Given the description of an element on the screen output the (x, y) to click on. 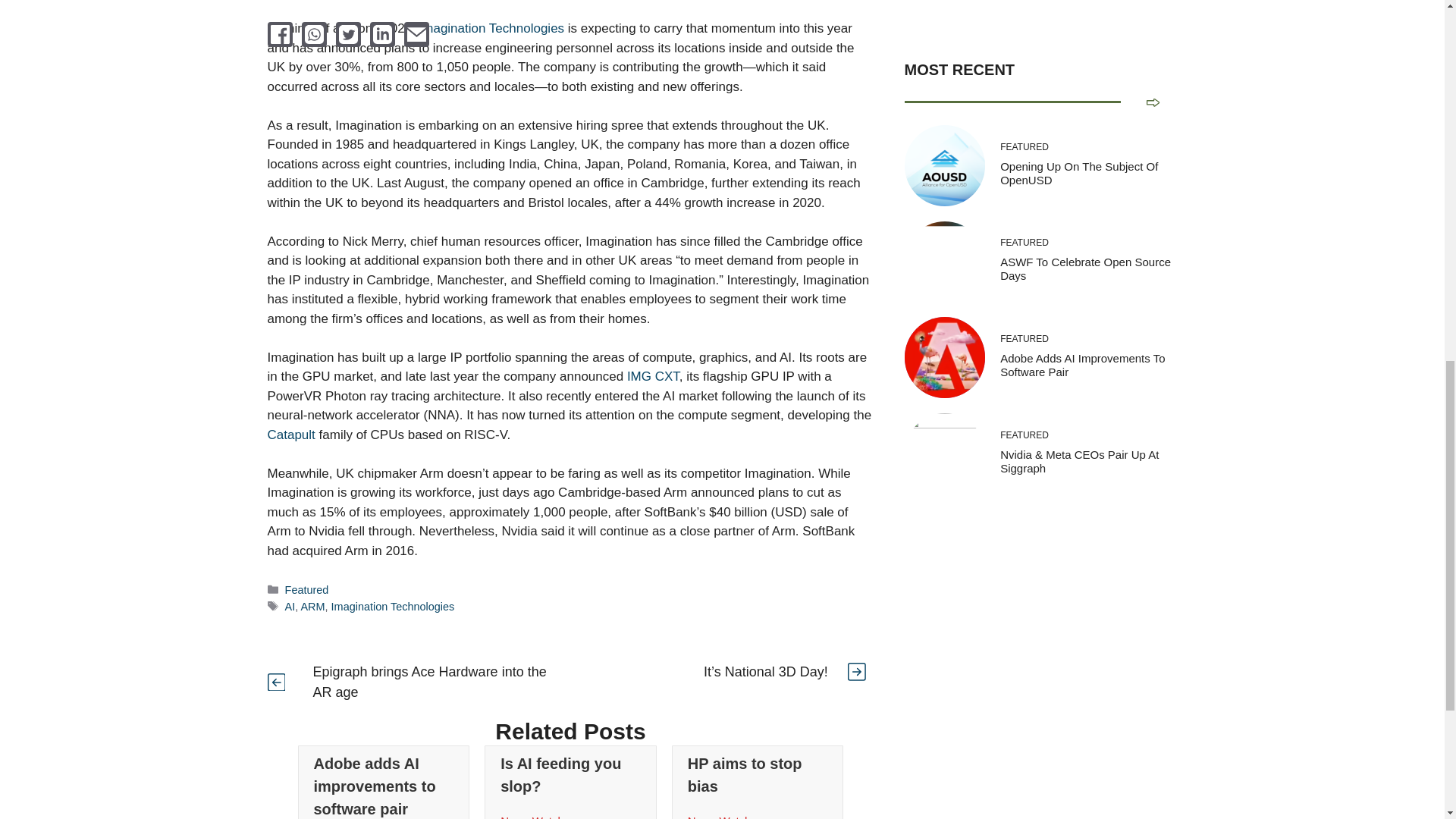
Featured (307, 589)
Imagination Technologies (491, 28)
ARM (311, 606)
Imagination Technologies (392, 606)
Epigraph brings Ace Hardware into the AR age (429, 682)
IMG CXT (653, 376)
Catapult (290, 434)
